Given the description of an element on the screen output the (x, y) to click on. 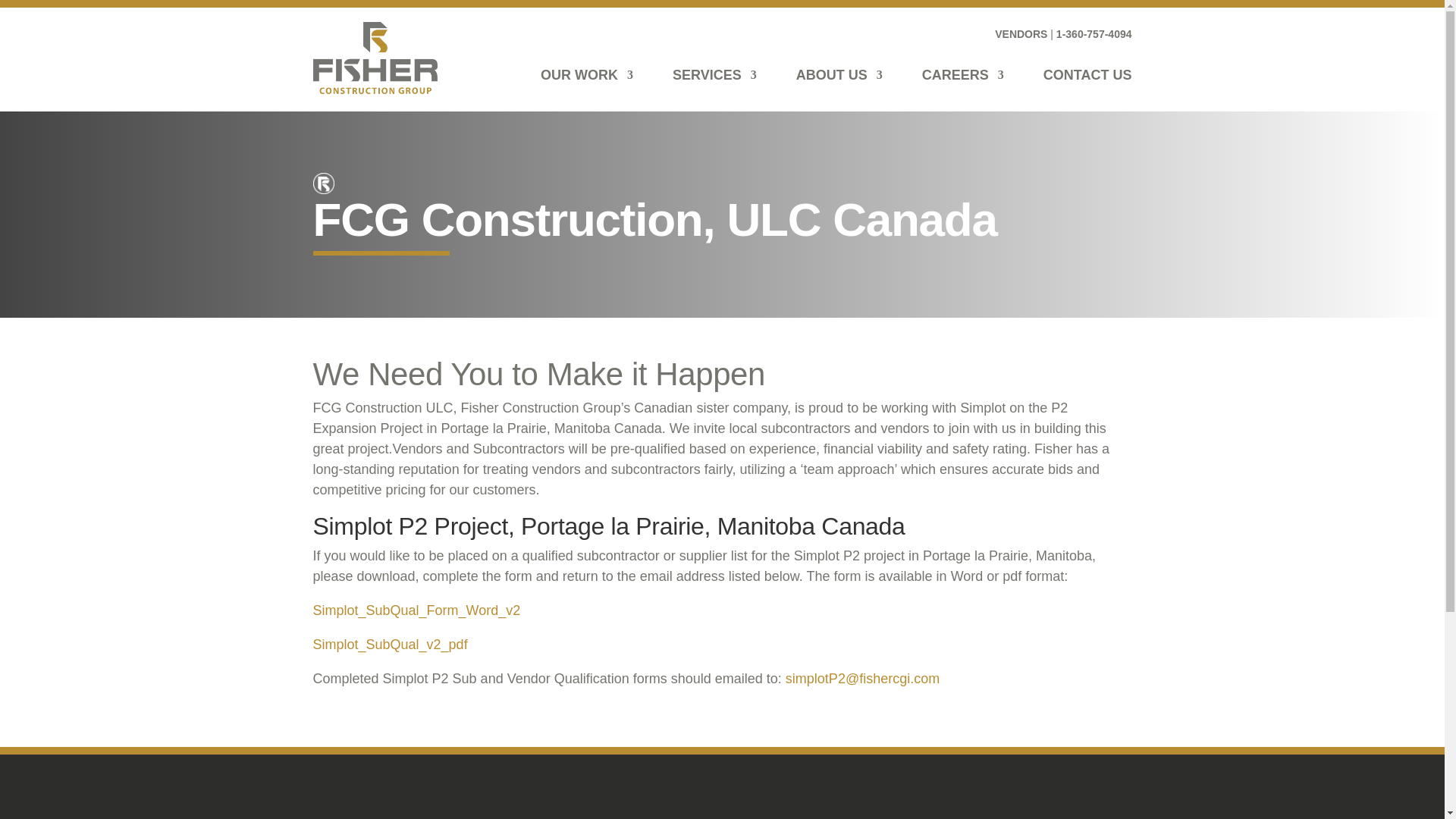
SERVICES (714, 74)
OUR WORK (586, 74)
VENDORS (1020, 33)
1-360-757-4094 (1094, 33)
CONTACT US (1087, 74)
CAREERS (962, 74)
ABOUT US (839, 74)
